Given the description of an element on the screen output the (x, y) to click on. 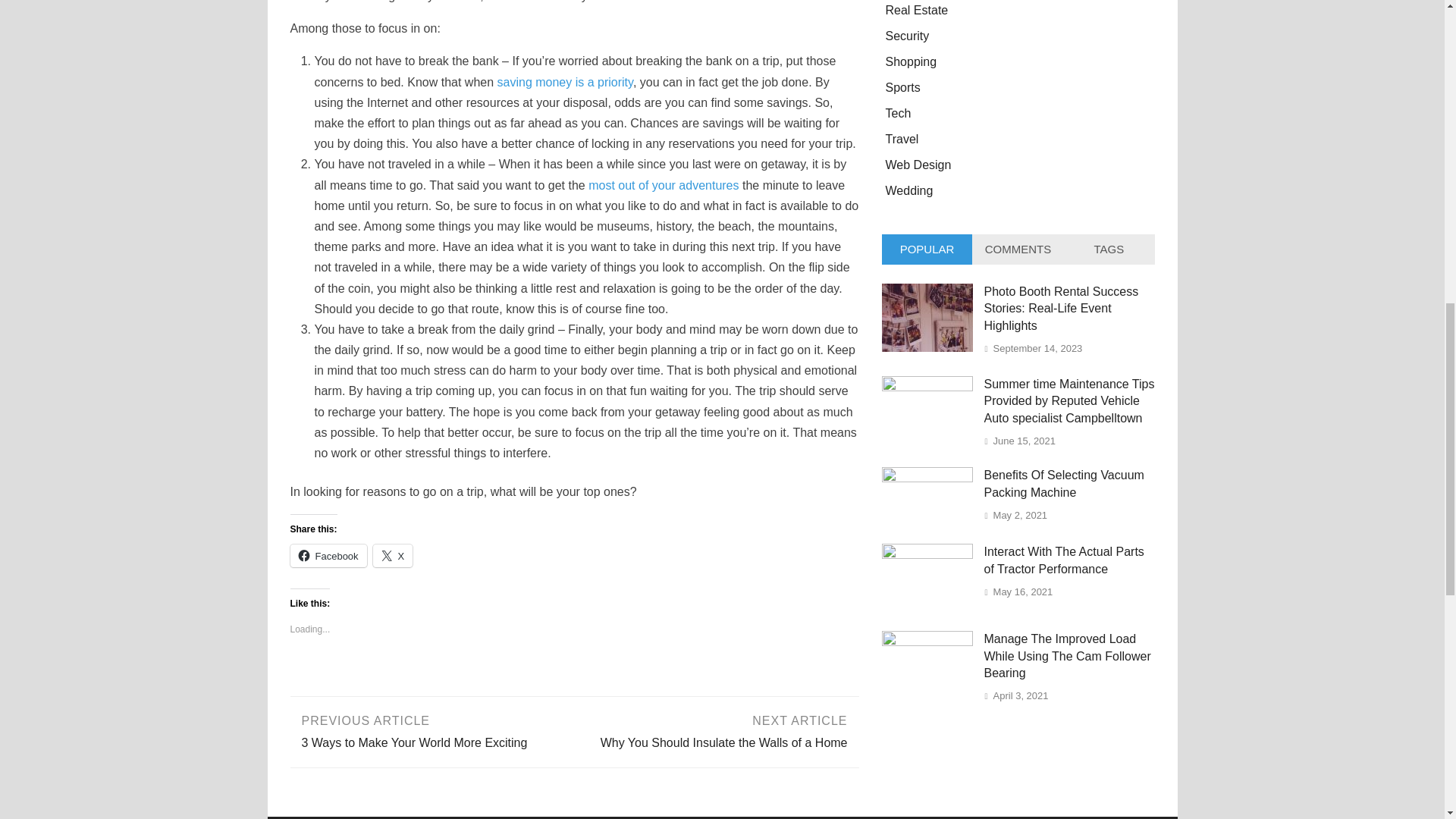
saving money is a priority (565, 82)
Facebook (327, 555)
Click to share on X (392, 555)
Click to share on Facebook (327, 555)
Benefits Of Selecting Vacuum Packing Machine (927, 477)
most out of your adventures (431, 730)
X (663, 185)
